Given the description of an element on the screen output the (x, y) to click on. 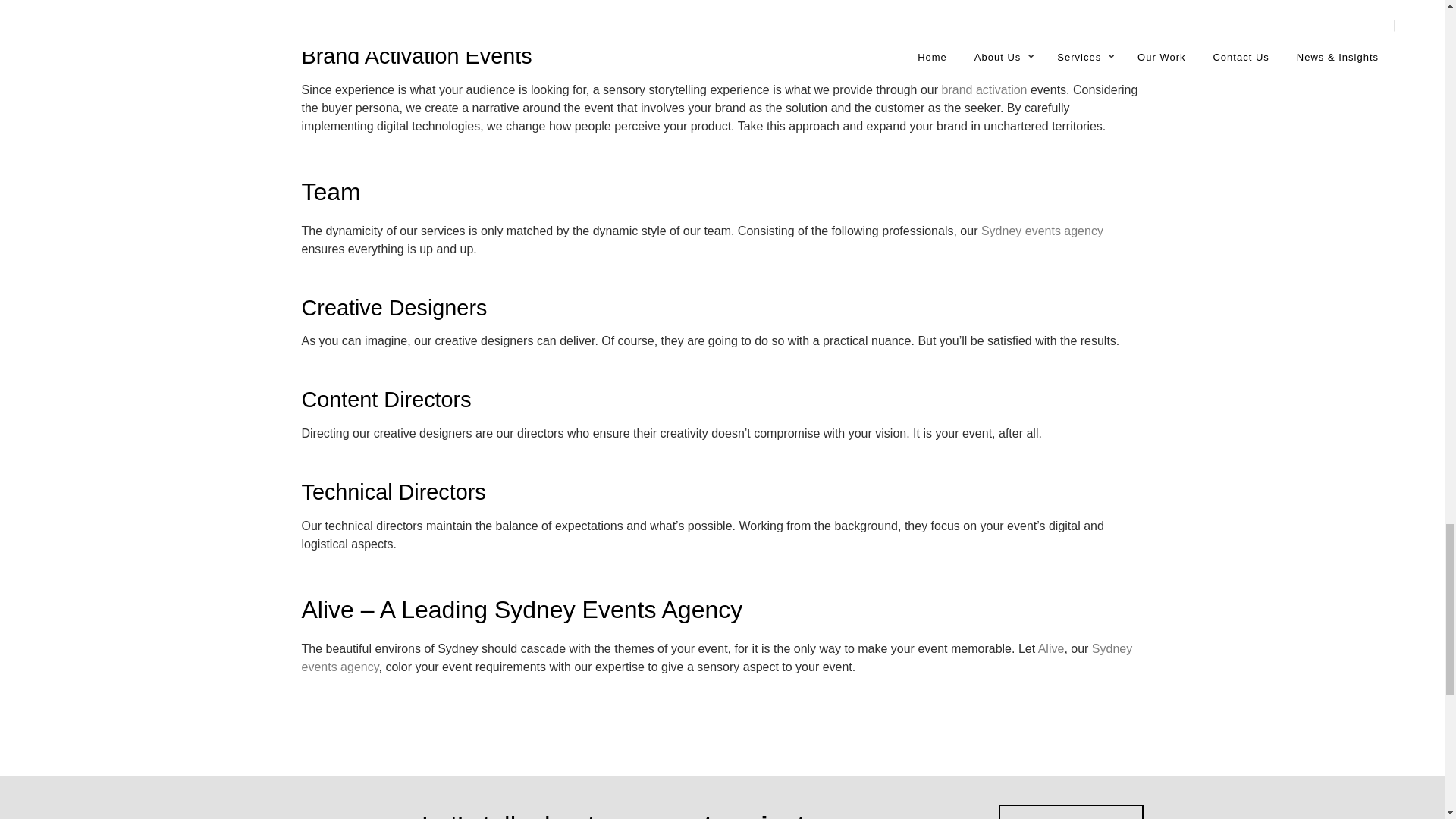
GET IN TOUCH (1070, 811)
Sydney events agency (716, 657)
brand activation (984, 89)
Sydney events agency (1042, 230)
Alive (1051, 648)
